Given the description of an element on the screen output the (x, y) to click on. 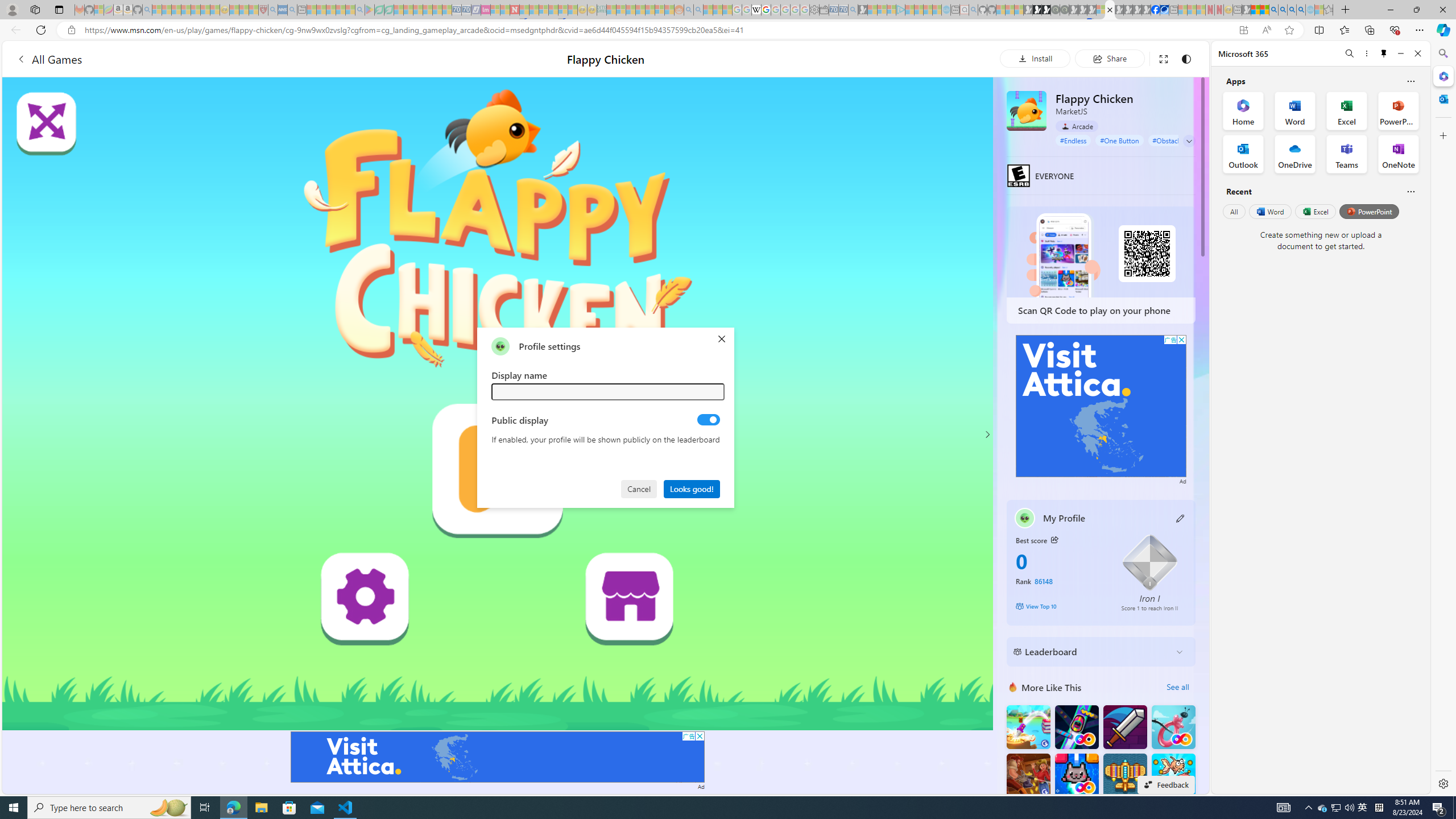
Looks good! (691, 488)
Knife Flip (1028, 726)
Close Outlook pane (1442, 98)
All Games (49, 58)
Arcade (1076, 126)
New Tab (1346, 9)
Cheap Hotels - Save70.com - Sleeping (466, 9)
All Games (212, 58)
#Endless (1073, 140)
Robert H. Shmerling, MD - Harvard Health - Sleeping (263, 9)
list of asthma inhalers uk - Search - Sleeping (272, 9)
DITOGAMES AG Imprint - Sleeping (601, 9)
Bing AI - Search (1272, 9)
